Given the description of an element on the screen output the (x, y) to click on. 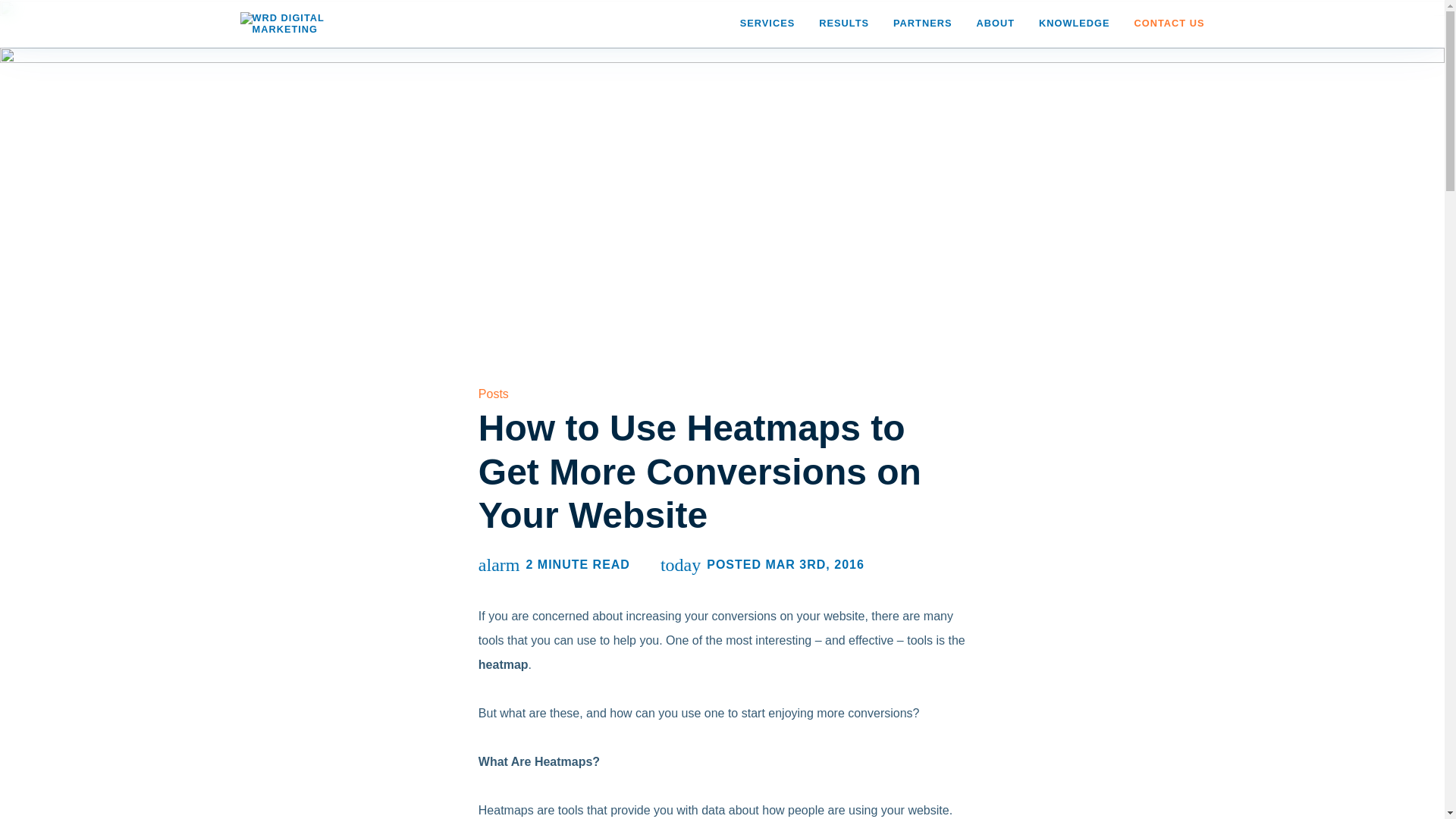
PARTNERS (922, 23)
KNOWLEDGE (1074, 23)
RESULTS (843, 23)
SERVICES (766, 23)
ABOUT (994, 23)
CONTACT US (1169, 23)
